Given the description of an element on the screen output the (x, y) to click on. 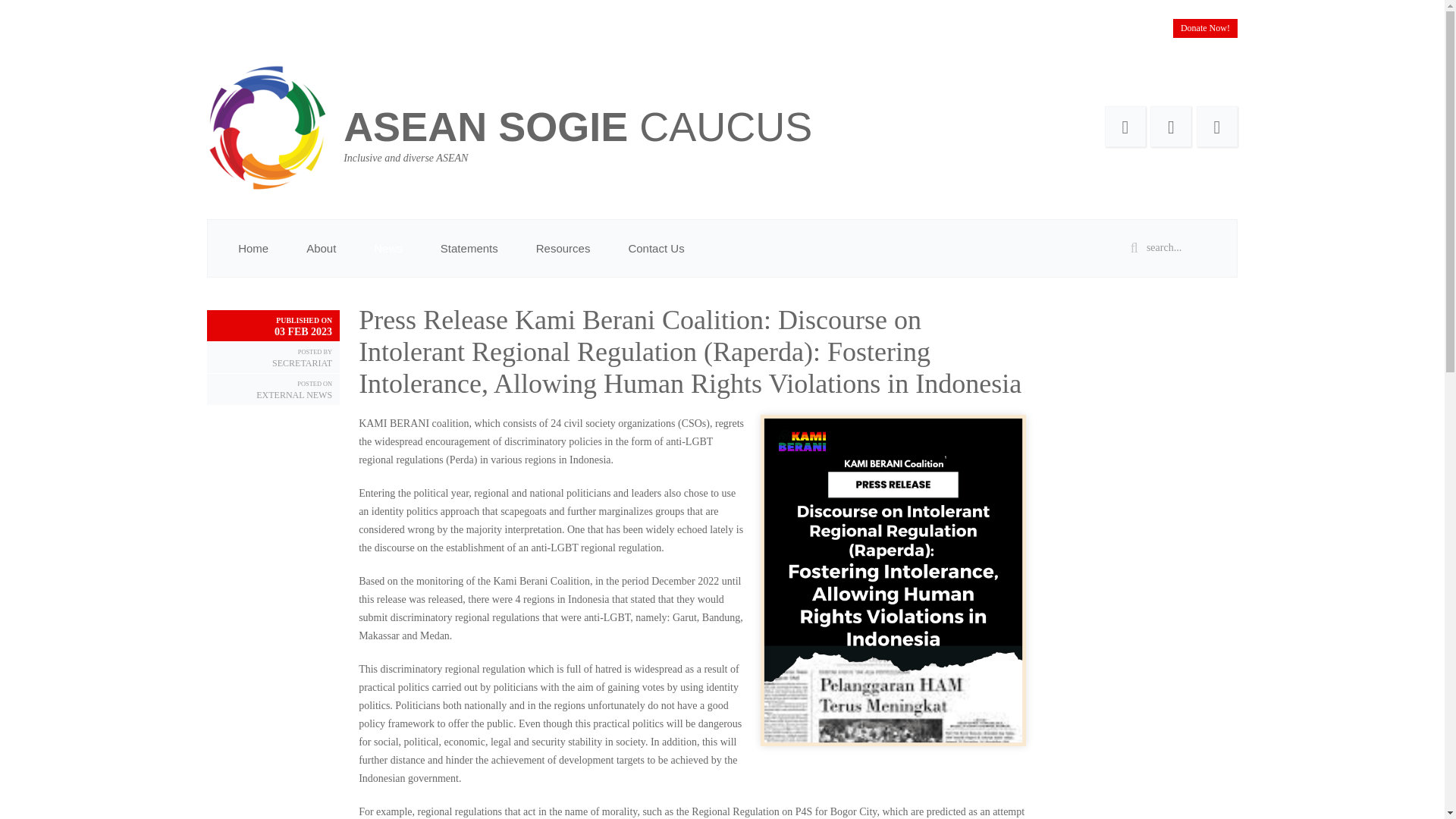
Statements (469, 247)
Resources (563, 247)
Home (252, 247)
Donate Now! (1205, 27)
News (387, 247)
Contact Us (655, 247)
EXTERNAL NEWS (293, 394)
About (320, 247)
